Given the description of an element on the screen output the (x, y) to click on. 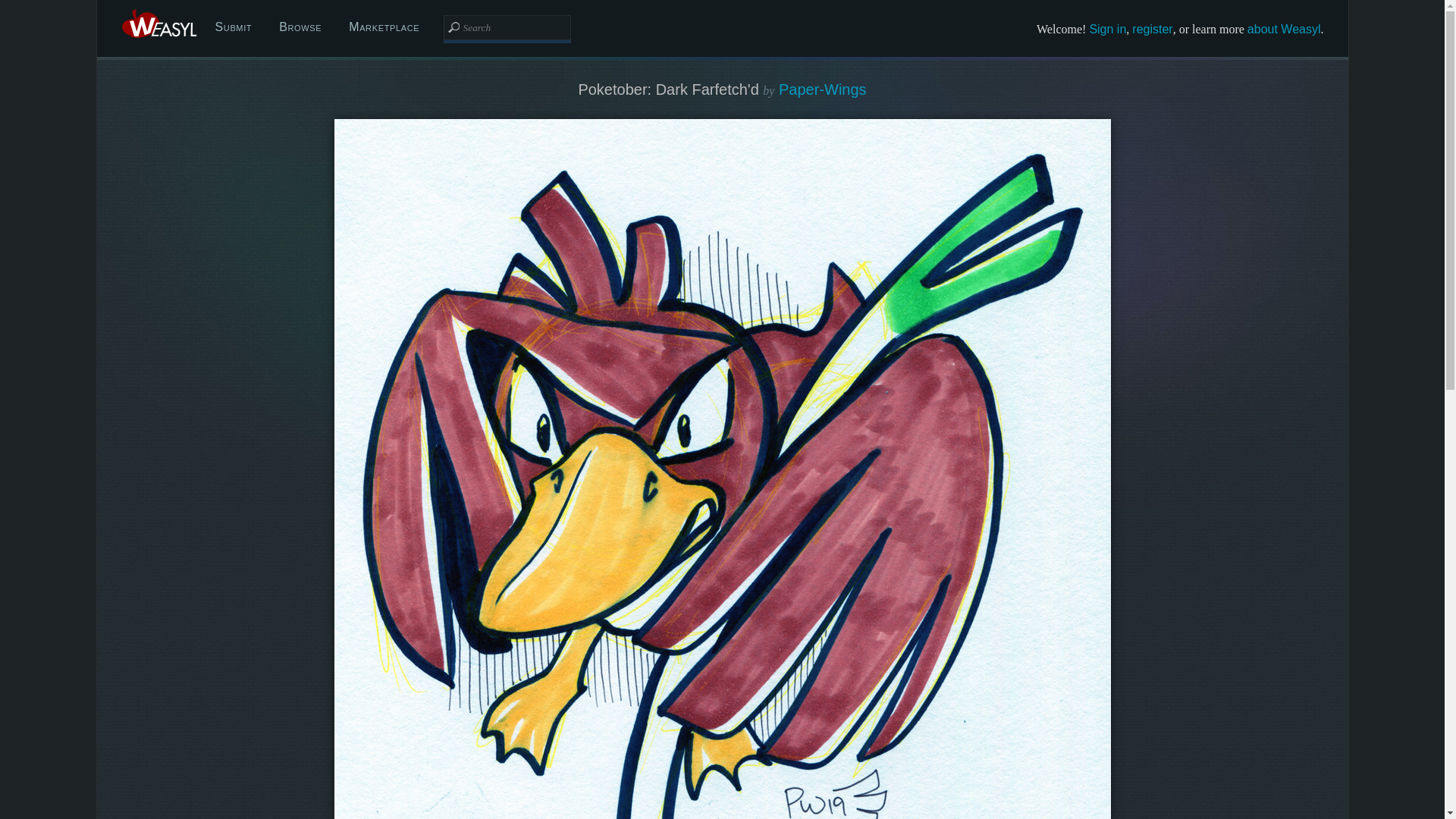
Search Weasyl (507, 27)
Paper-Wings (822, 89)
Marketplace (383, 27)
Sign in (1107, 29)
register (1152, 29)
Browse (299, 27)
Submit (233, 27)
about Weasyl (1283, 29)
